Given the description of an element on the screen output the (x, y) to click on. 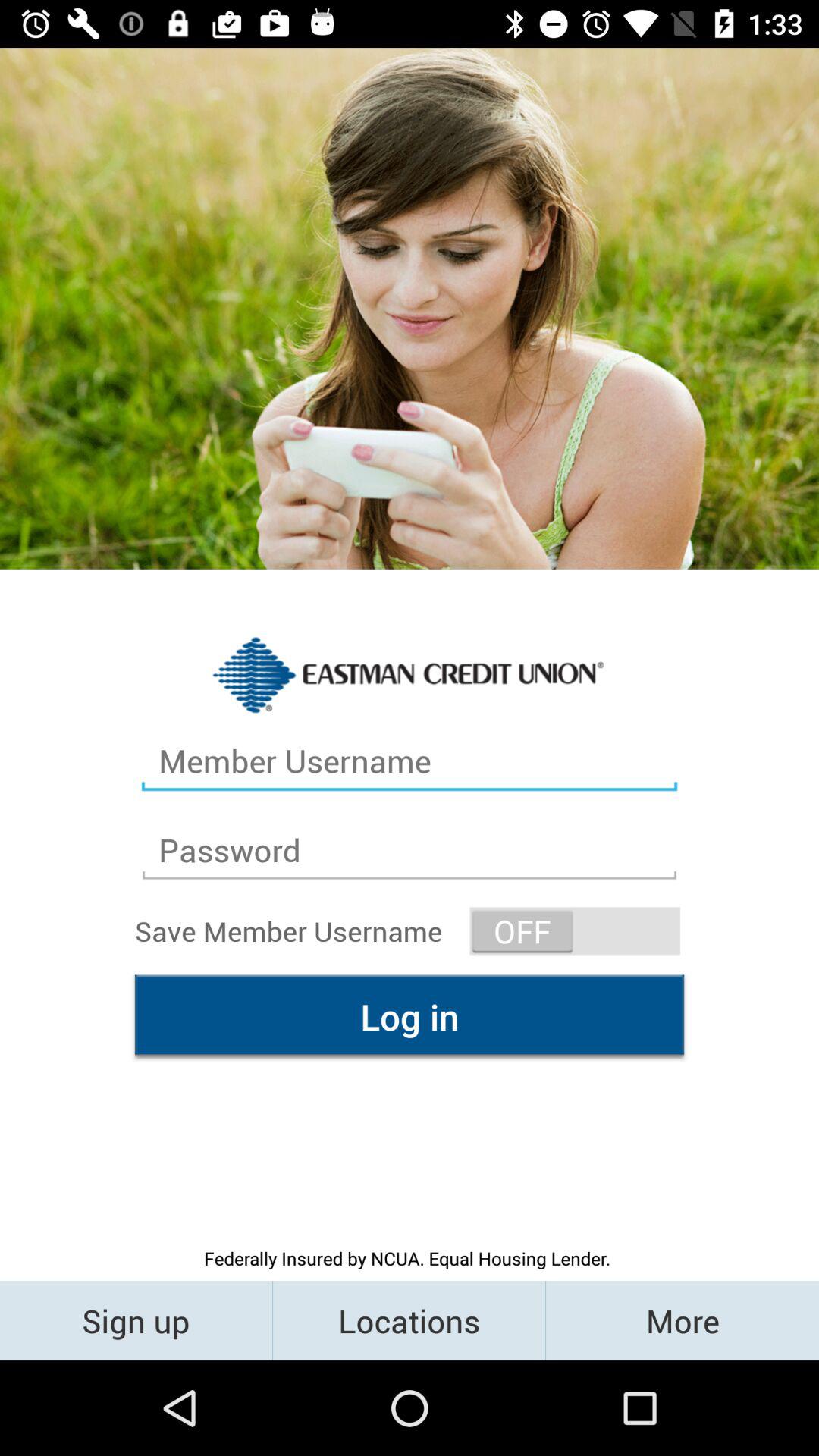
press more (682, 1320)
